Given the description of an element on the screen output the (x, y) to click on. 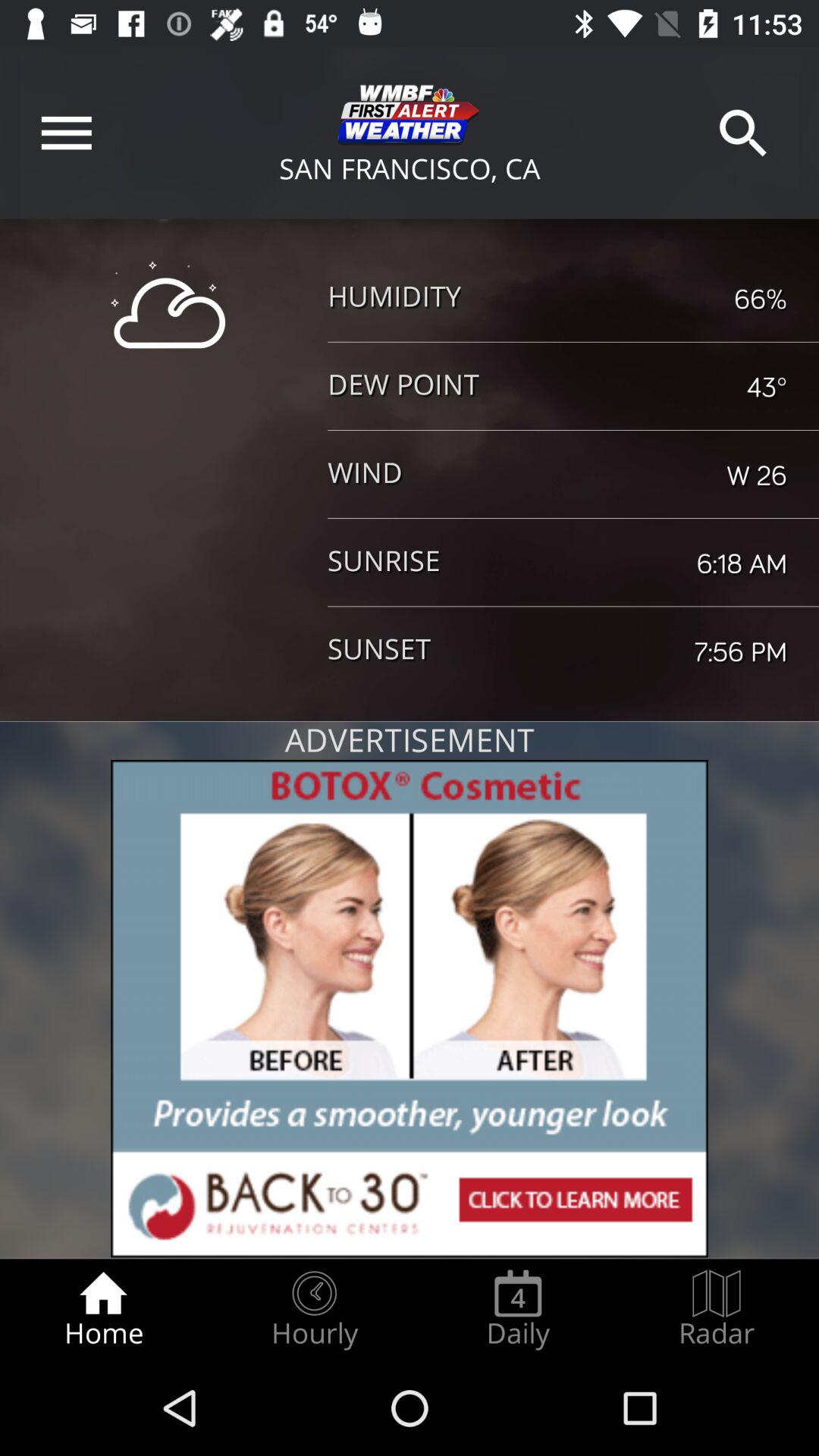
turn on home item (103, 1309)
